Given the description of an element on the screen output the (x, y) to click on. 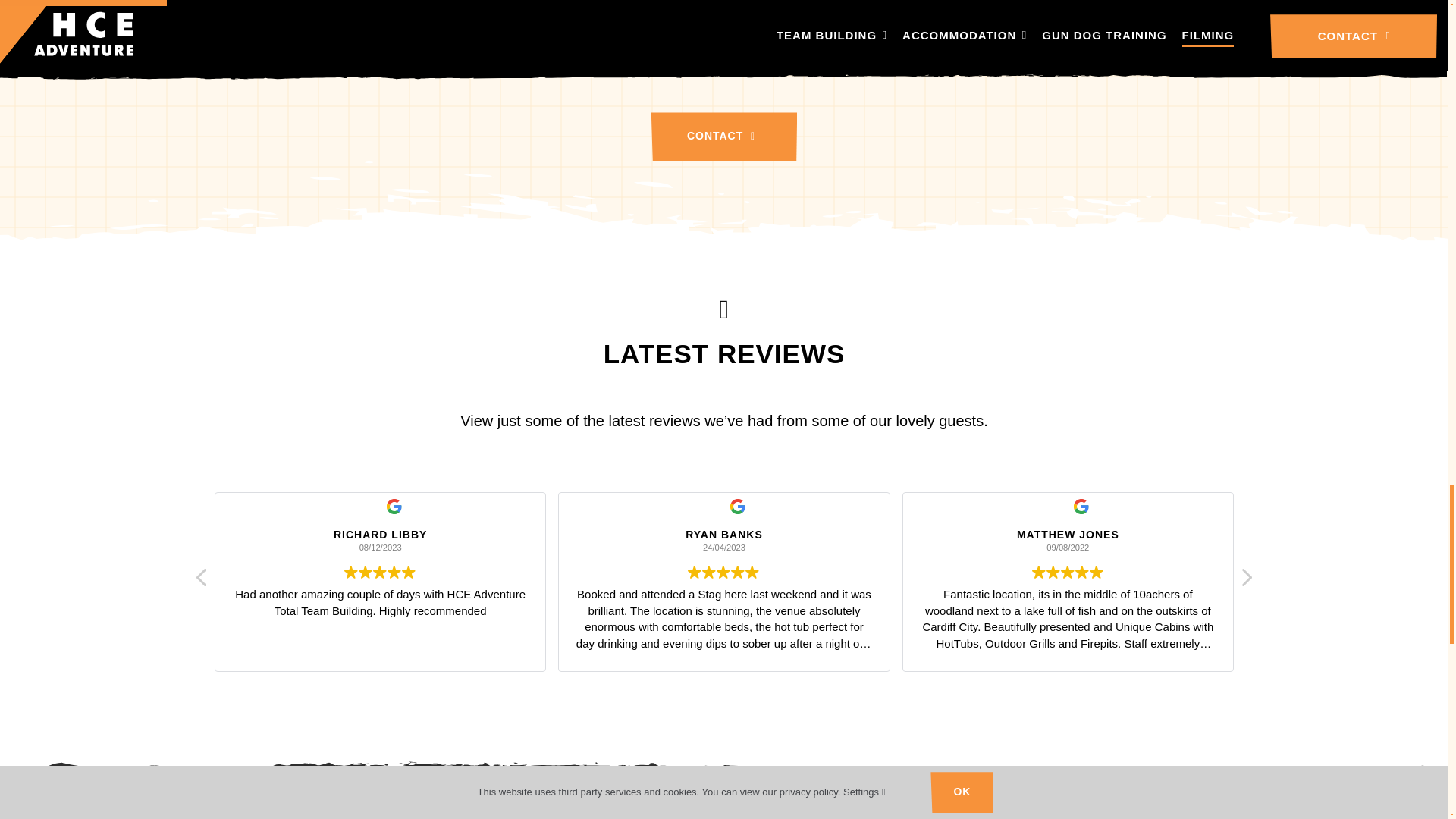
Contact Here (723, 136)
CONTACT (723, 136)
underline-svg-dark-orange (724, 375)
